Given the description of an element on the screen output the (x, y) to click on. 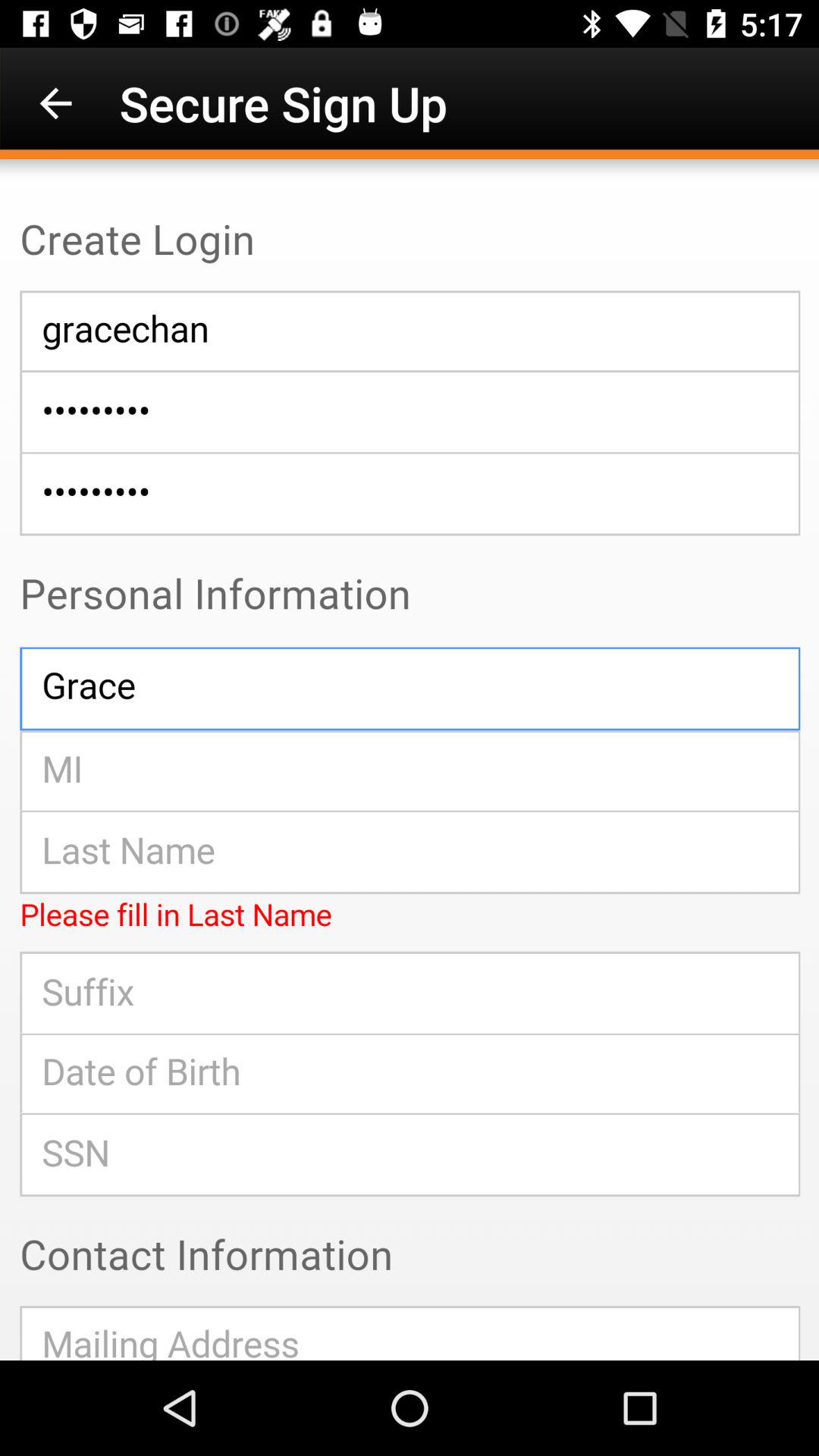
screen page (409, 759)
